Given the description of an element on the screen output the (x, y) to click on. 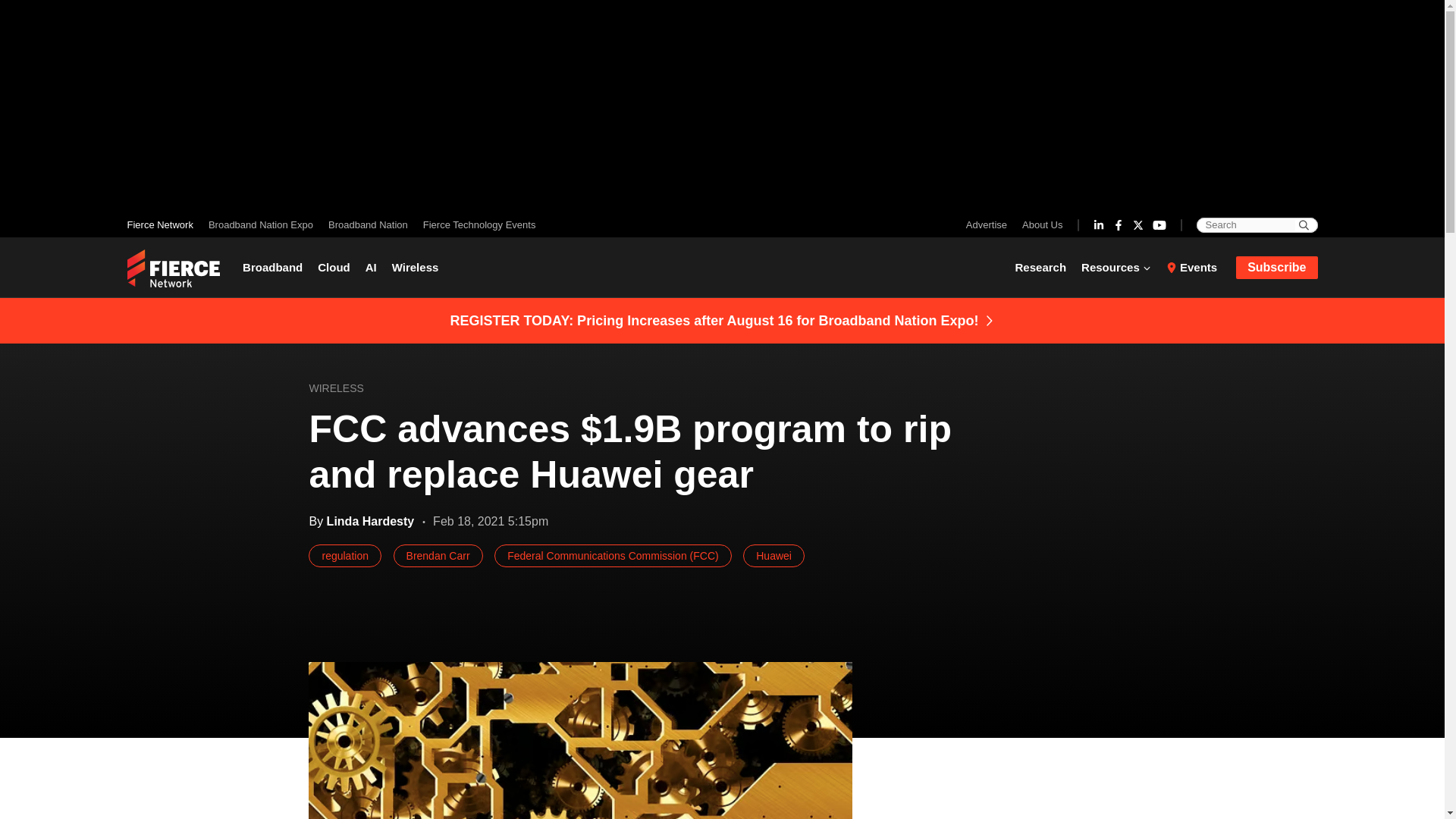
Subscribe (1276, 267)
Broadband (276, 266)
Fierce Network (164, 225)
Advertise (990, 225)
Research (1044, 266)
Fierce Technology Events (474, 225)
Cloud (334, 266)
Broadband Nation (367, 225)
Resources (1116, 266)
Broadband Nation Expo (260, 225)
